Given the description of an element on the screen output the (x, y) to click on. 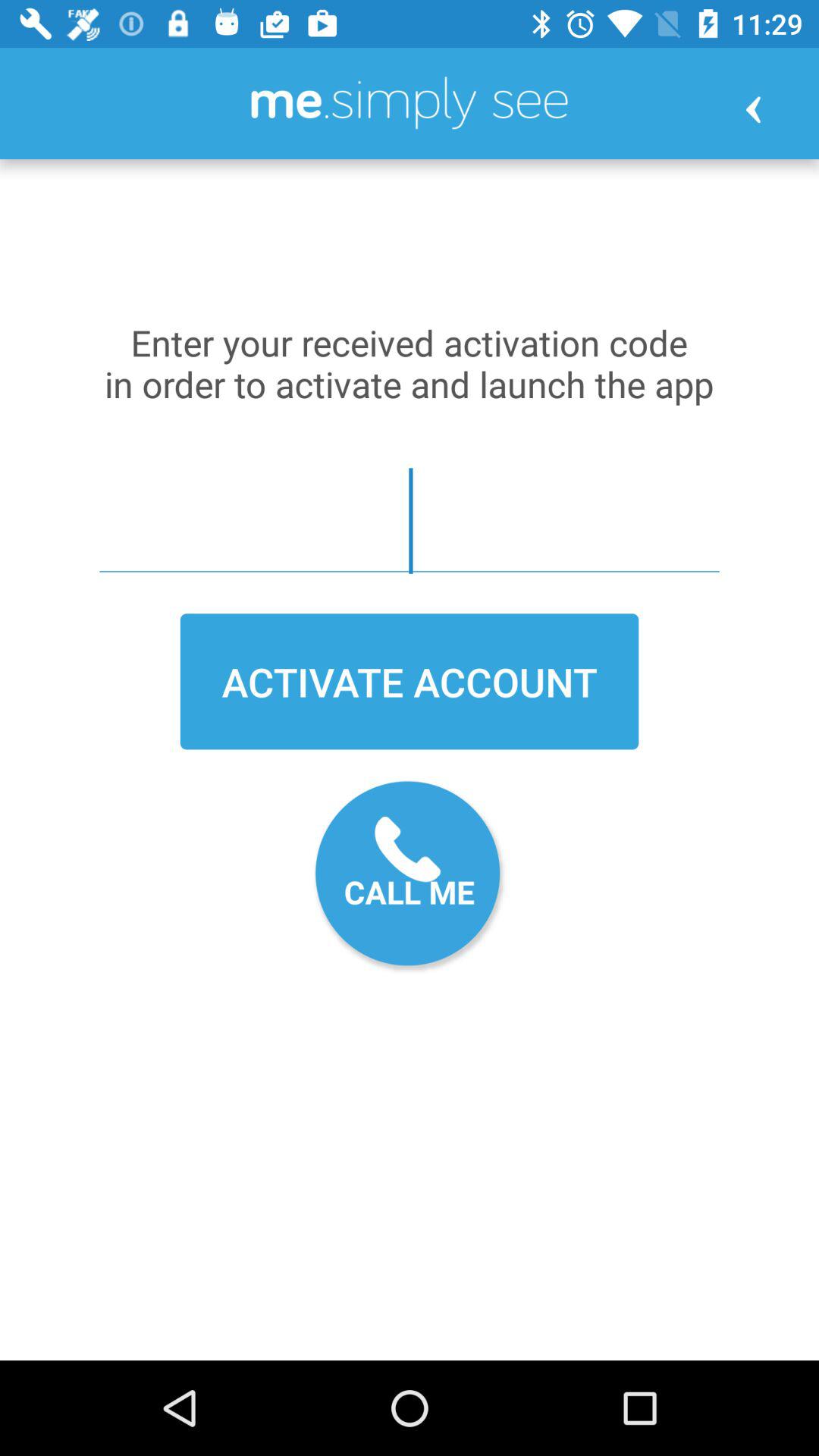
press activate account item (409, 681)
